Given the description of an element on the screen output the (x, y) to click on. 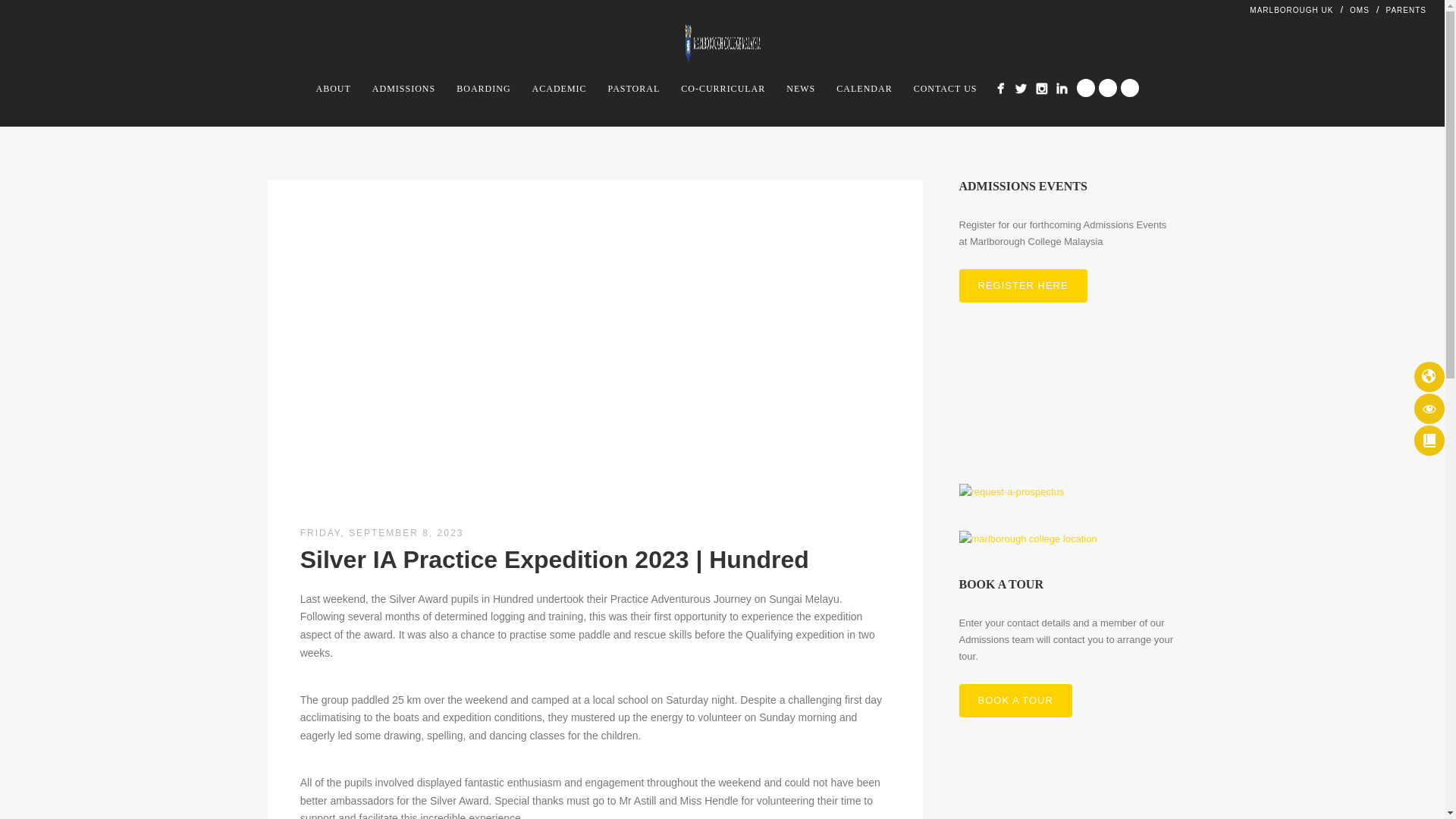
Twitter (1020, 87)
Instagram (1041, 87)
LinkedIn (1061, 87)
ABOUT (333, 88)
ACADEMIC (558, 88)
Facebook (1000, 87)
ADMISSIONS (403, 88)
BOARDING (483, 88)
